Given the description of an element on the screen output the (x, y) to click on. 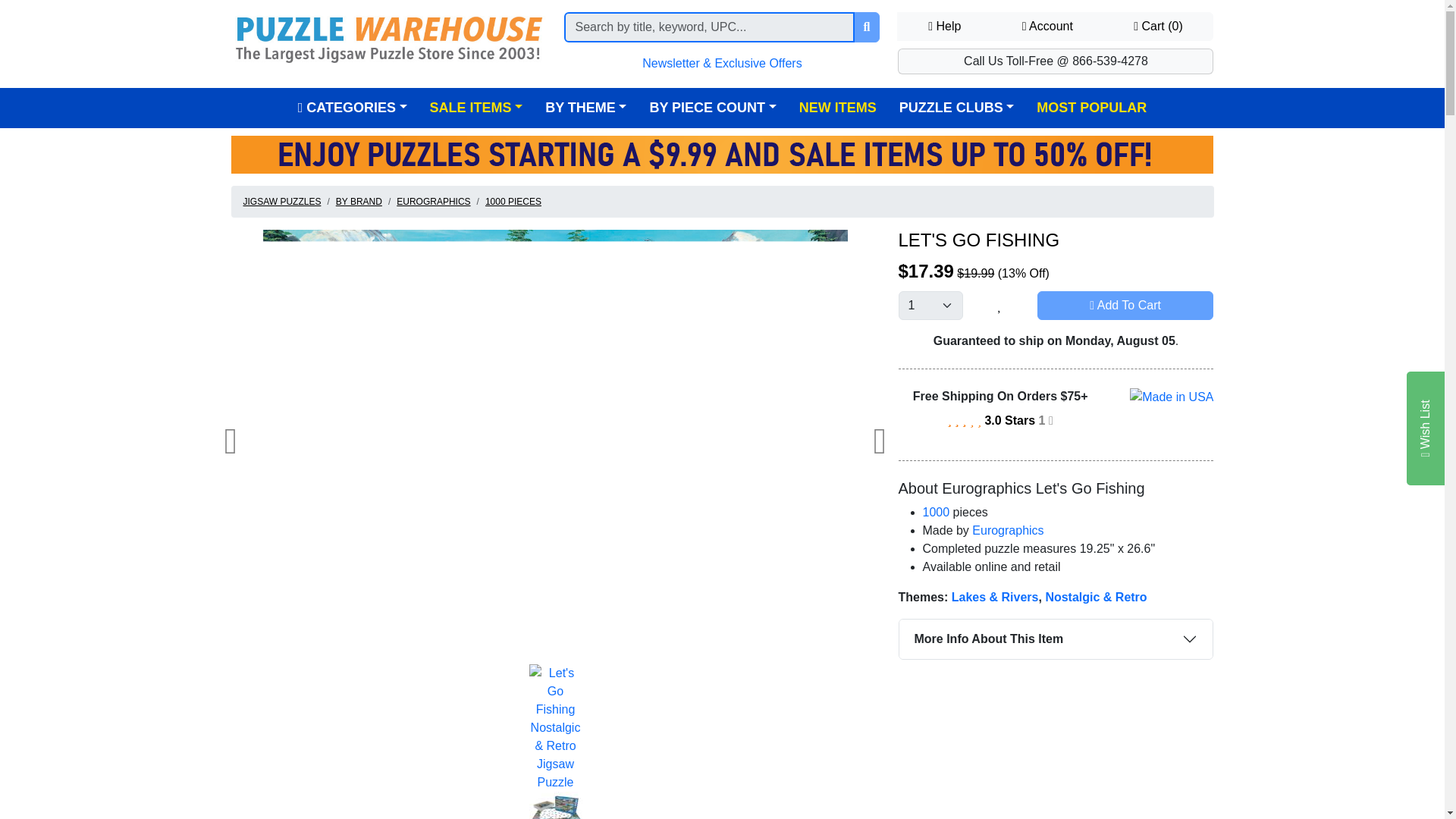
CATEGORIES (352, 107)
Quantity (930, 305)
Add To Wish List (999, 305)
Help (943, 26)
Account (1047, 26)
